Given the description of an element on the screen output the (x, y) to click on. 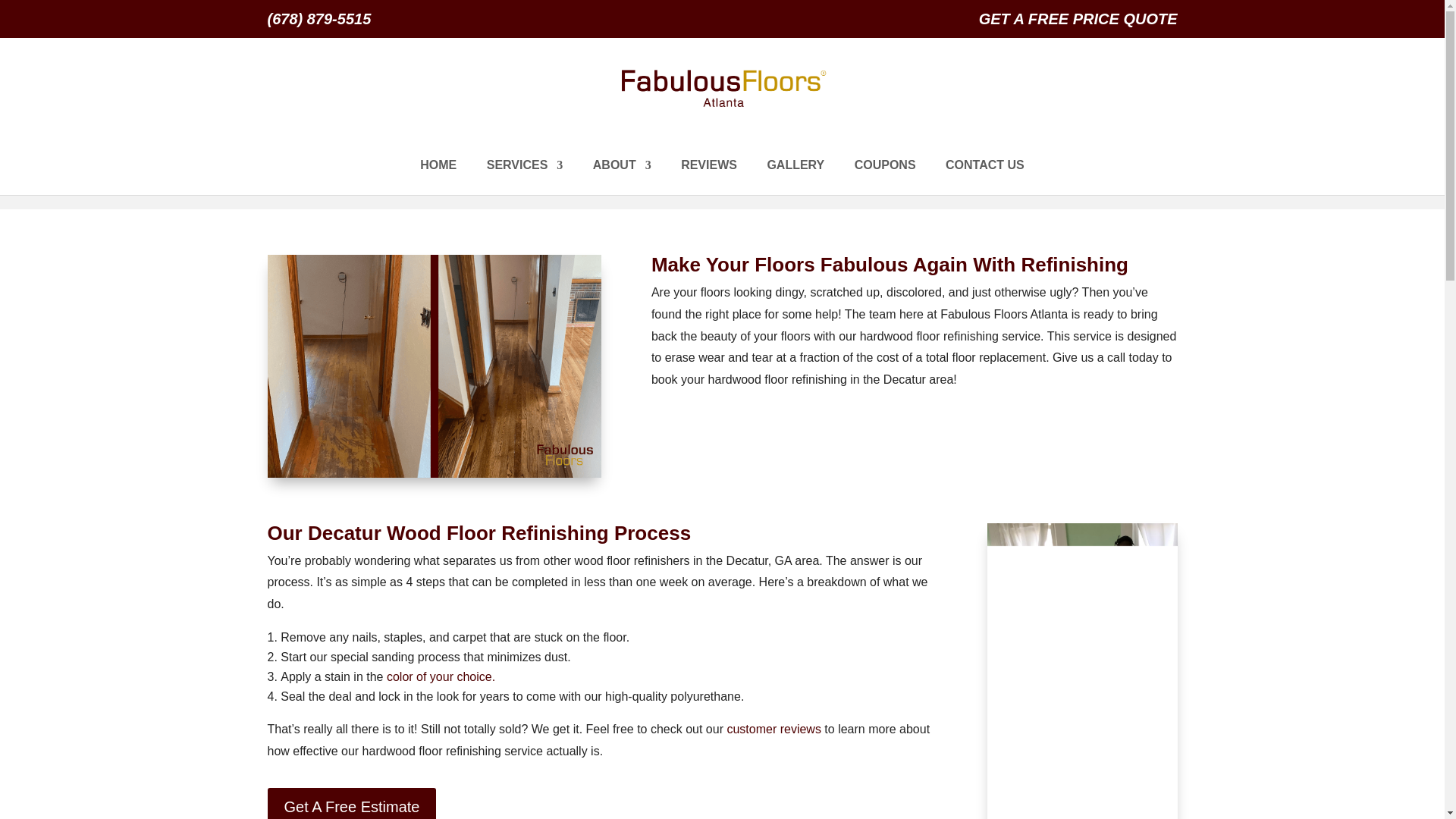
GALLERY (795, 176)
color of your choice. (441, 676)
COUPONS (884, 176)
Get A Free Estimate (350, 803)
Contact Us (984, 176)
SERVICES (524, 176)
ABOUT (621, 176)
CONTACT US (984, 176)
GET A FREE PRICE QUOTE (1077, 24)
HOME (438, 176)
